Given the description of an element on the screen output the (x, y) to click on. 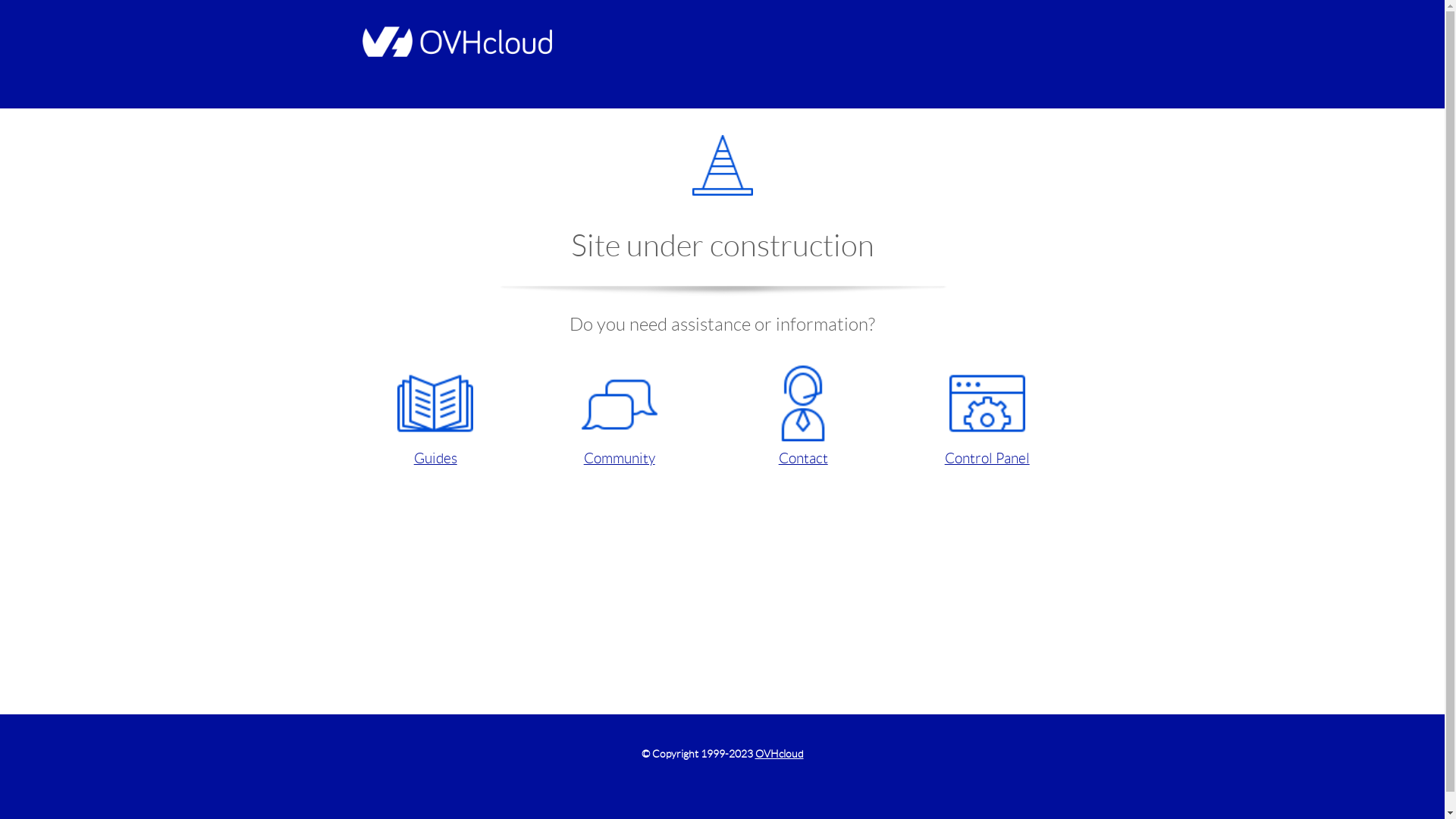
Community Element type: text (618, 417)
Control Panel Element type: text (986, 417)
Contact Element type: text (802, 417)
Guides Element type: text (435, 417)
OVHcloud Element type: text (779, 753)
